Given the description of an element on the screen output the (x, y) to click on. 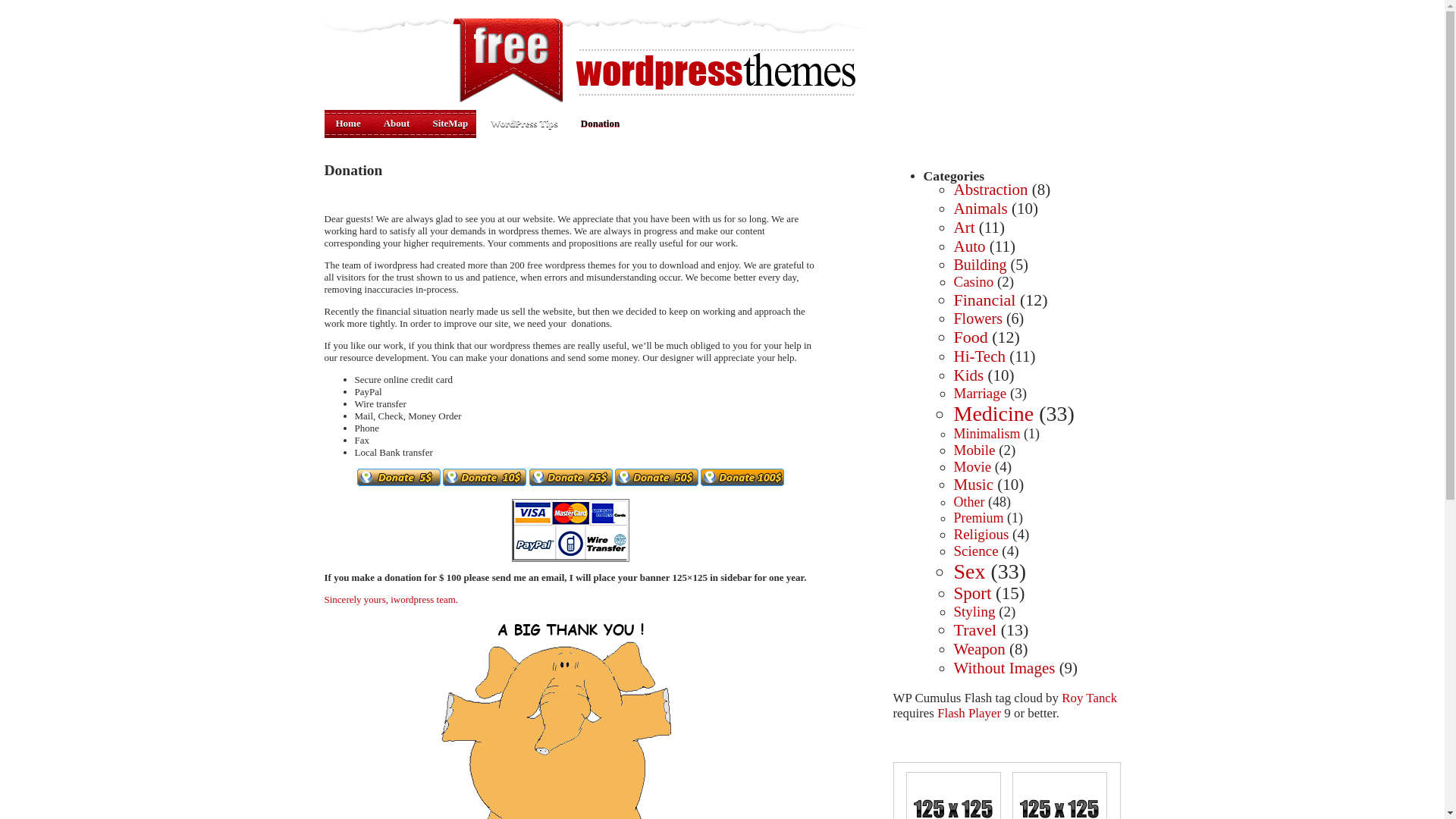
View all posts filed under Kids (968, 375)
Religious (981, 534)
Home (348, 123)
Kids (968, 375)
WordPress Tips (524, 123)
Hi-Tech (979, 356)
Building (980, 264)
View all posts filed under Marriage (980, 392)
Styling (974, 611)
Sex (969, 571)
Mobile (974, 449)
View all posts filed under Abstraction (990, 189)
View all posts filed under Auto (969, 246)
View all posts filed under Food (970, 336)
Science (975, 550)
